Given the description of an element on the screen output the (x, y) to click on. 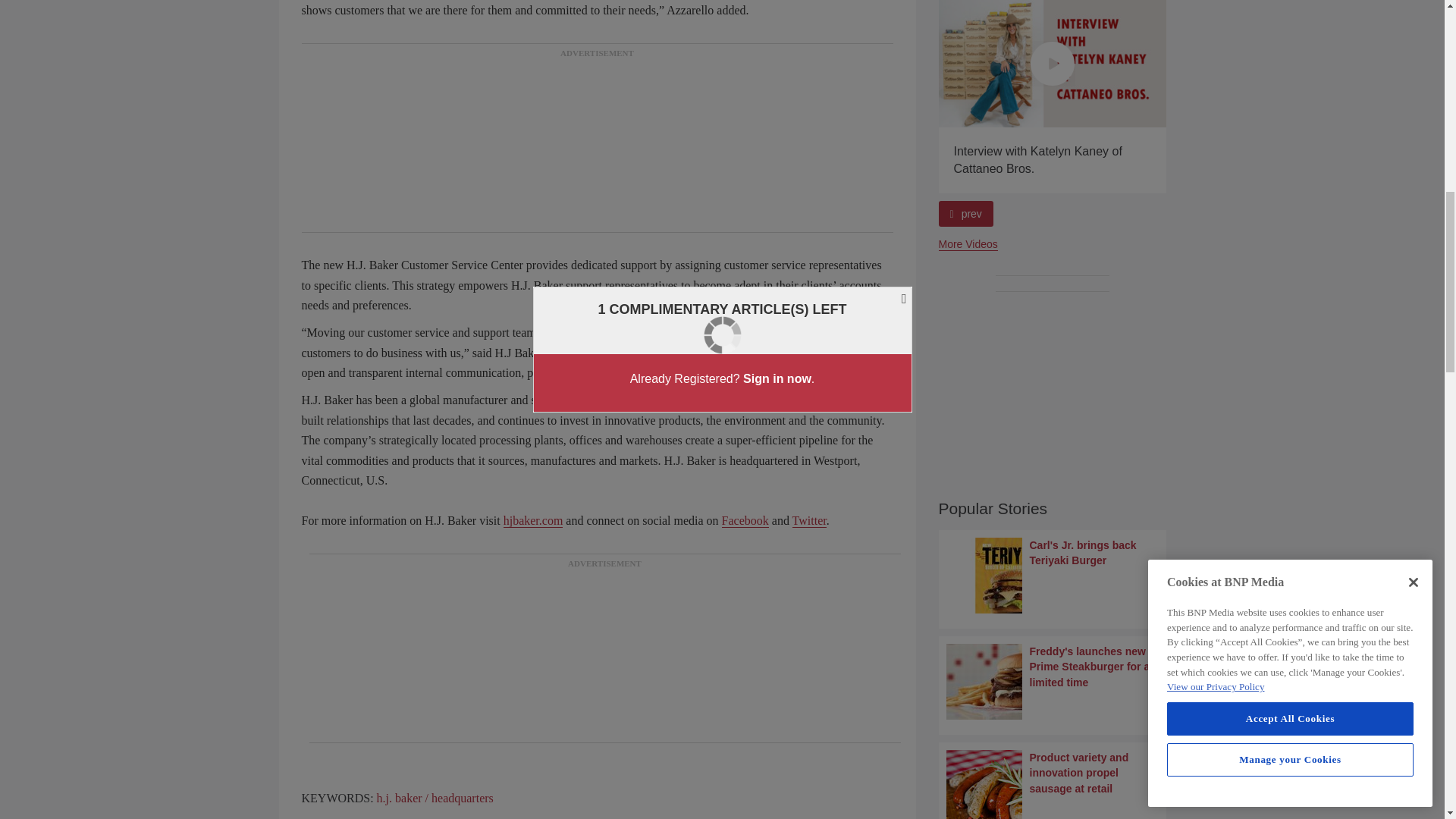
Interview with Katelyn Kaney of Cattaneo Bros. (1052, 63)
Product variety and innovation propel sausage at retail (1052, 784)
Freddy's launches new Prime Steakburger for a limited time (1052, 681)
Carl's Jr. brings back Teriyaki Burger (1052, 575)
